Given the description of an element on the screen output the (x, y) to click on. 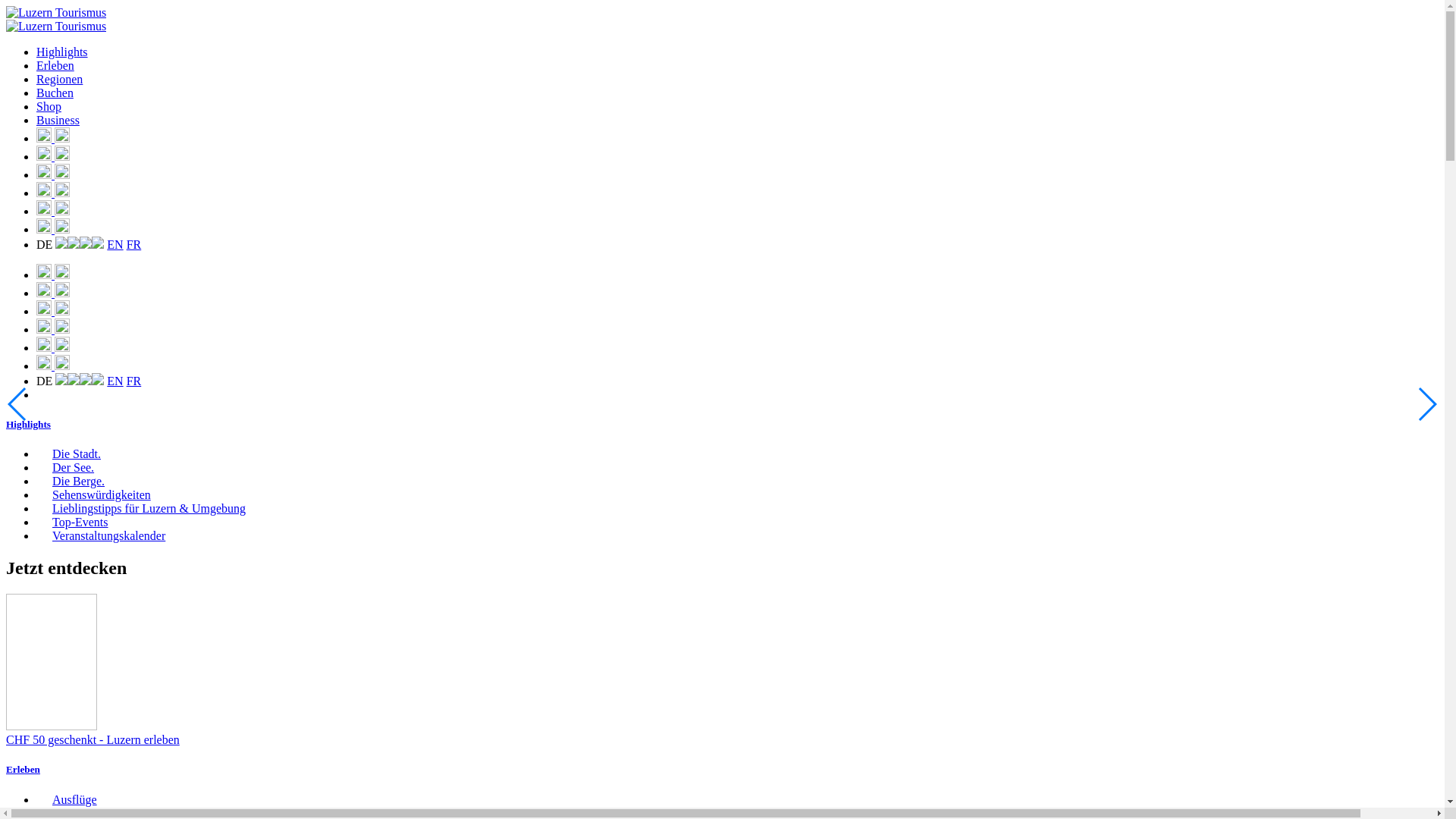
EN Element type: text (114, 380)
Wetter Element type: hover (52, 347)
Wetter Element type: hover (52, 210)
Webcams Element type: hover (52, 310)
Top Suche Element type: hover (52, 365)
FR Element type: text (133, 244)
Luzern Tourismus Element type: hover (56, 12)
Tickets Element type: hover (52, 329)
Top-Events Element type: text (72, 521)
Buchen Element type: text (54, 92)
Highlights Element type: text (61, 51)
Business Element type: text (57, 119)
Die Stadt. Element type: text (68, 453)
Shop Element type: text (48, 106)
Der See. Element type: text (65, 467)
Erlebniskarte Element type: hover (52, 137)
CHF 50 geschenkt - Luzern erleben Element type: text (722, 669)
FR Element type: text (133, 380)
Tickets Element type: hover (52, 192)
Erleben Element type: text (55, 65)
Favoriten Element type: hover (52, 156)
Highlights Element type: text (28, 423)
Favoriten Element type: hover (52, 292)
Die Berge. Element type: text (70, 480)
EN Element type: text (114, 244)
CityCard Element type: hover (51, 661)
Regionen Element type: text (59, 78)
Top Suche Element type: hover (52, 228)
Erlebniskarte Element type: hover (52, 274)
Veranstaltungskalender Element type: text (100, 535)
Erleben Element type: text (23, 769)
Luzern Tourismus Element type: hover (56, 26)
Webcams Element type: hover (52, 174)
